Given the description of an element on the screen output the (x, y) to click on. 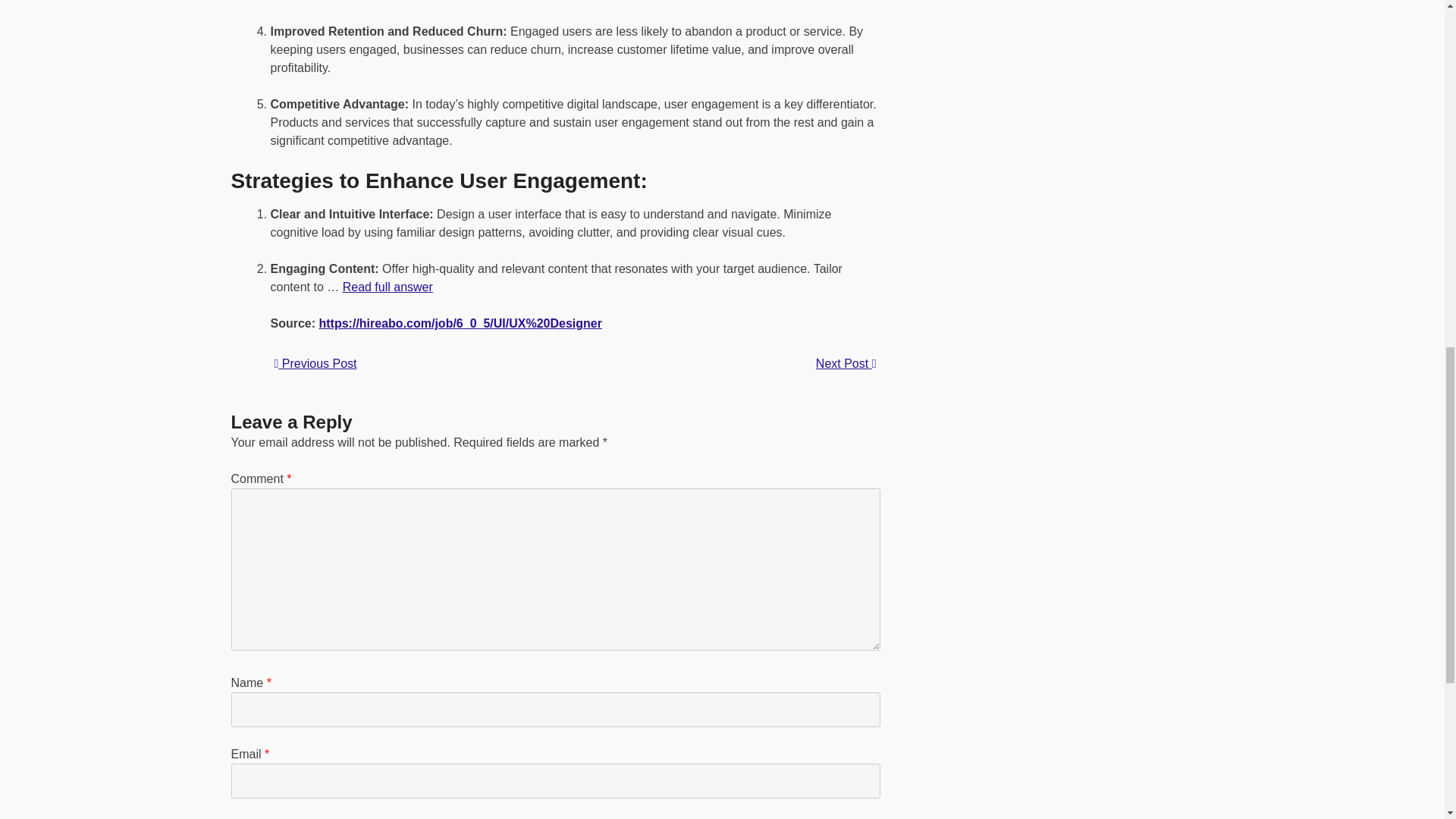
Previous Post (315, 363)
Next Post (845, 363)
Read full answer (387, 286)
